Given the description of an element on the screen output the (x, y) to click on. 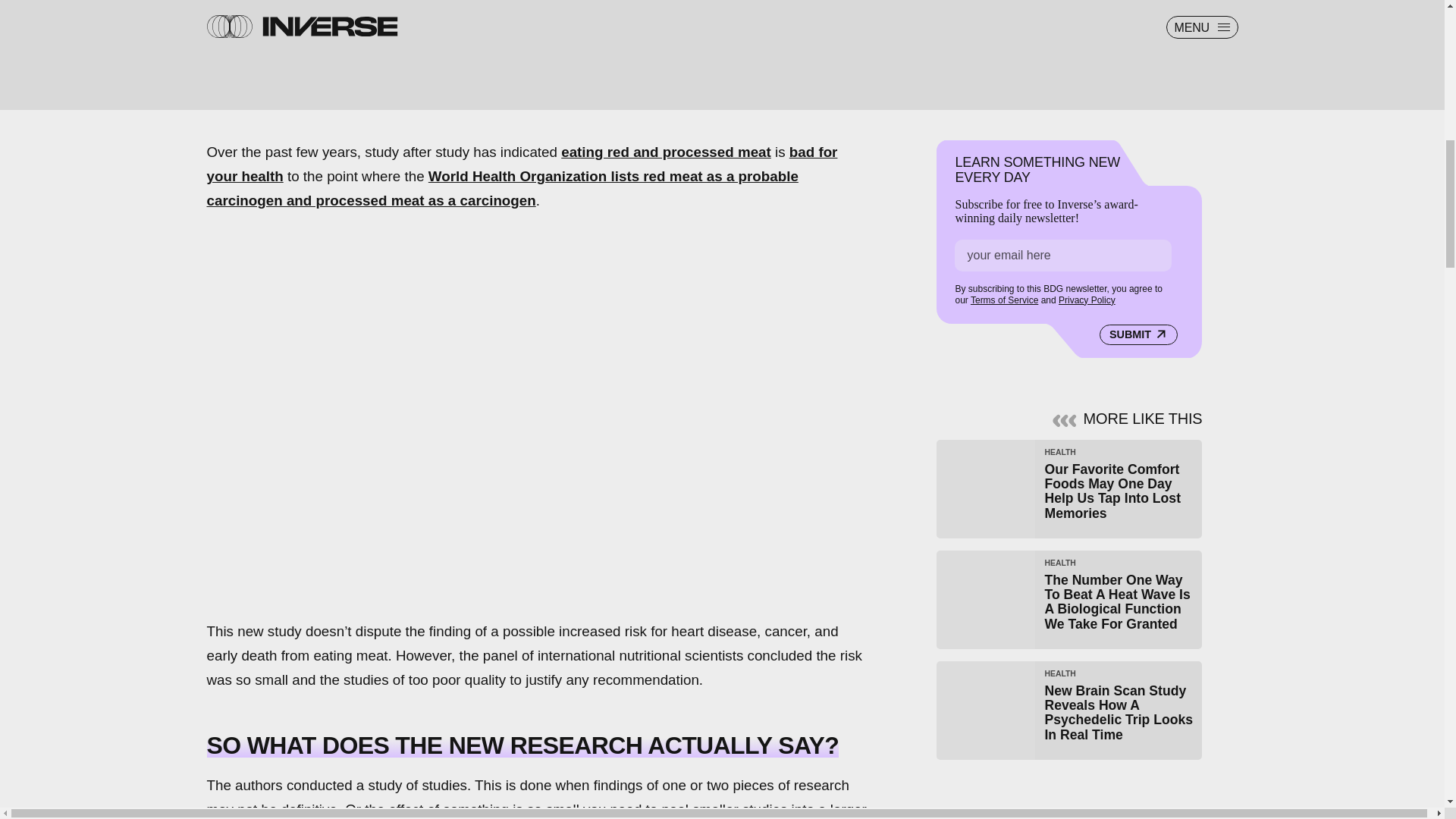
SUBMIT (1138, 334)
Privacy Policy (1086, 299)
Terms of Service (1004, 299)
eating red and processed meat (665, 151)
bad for your health (521, 164)
